Given the description of an element on the screen output the (x, y) to click on. 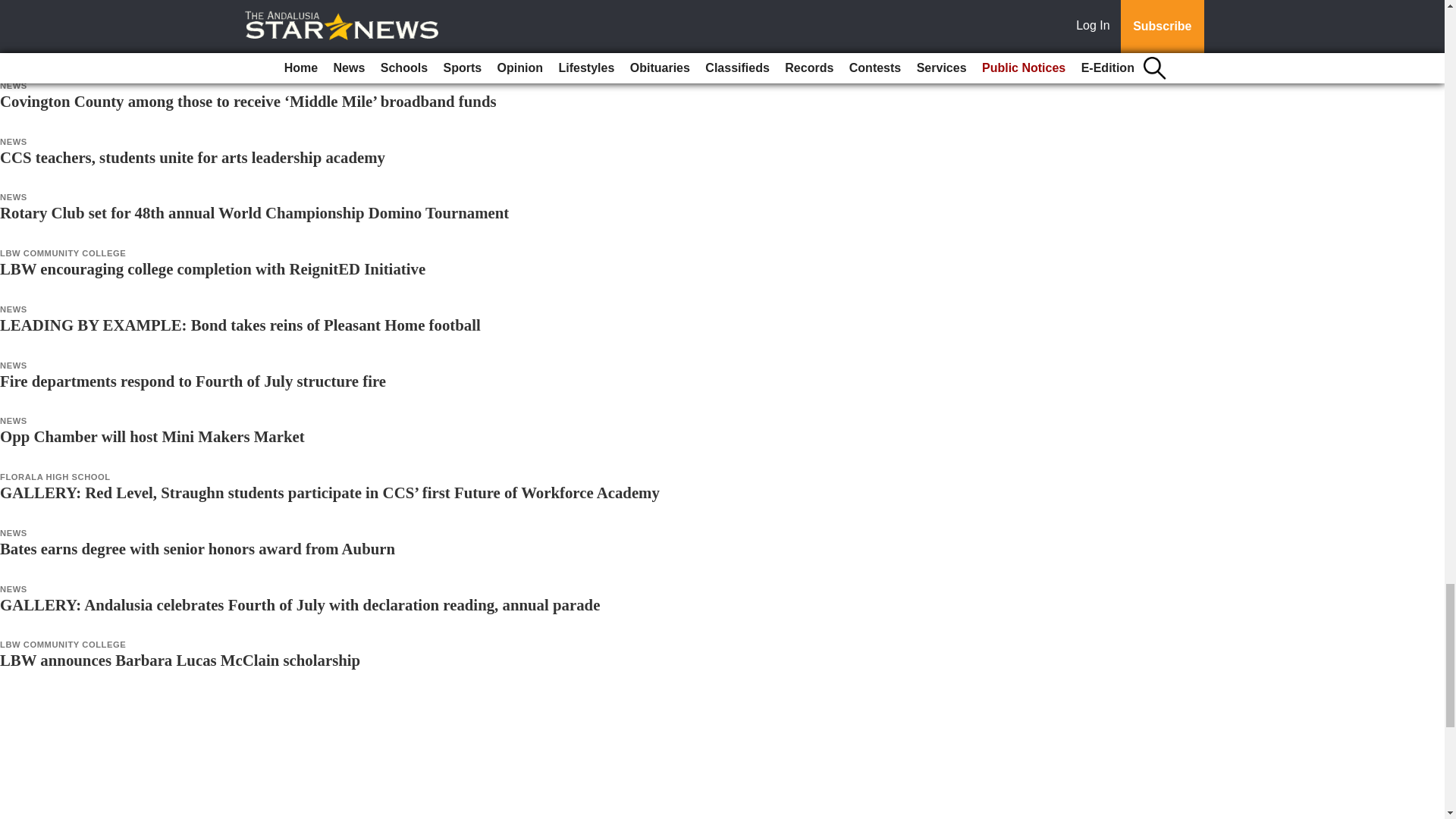
CCS teachers, students unite for arts leadership academy (192, 157)
ADSI plans county Clean-Up Day on July 20 (149, 45)
LBW encouraging college completion with ReignitED Initiative (212, 268)
ADSI plans county Clean-Up Day on July 20 (149, 45)
CCS teachers, students unite for arts leadership academy (192, 157)
Fire departments respond to Fourth of July structure fire (192, 380)
LBW encouraging college completion with ReignitED Initiative (212, 268)
